Given the description of an element on the screen output the (x, y) to click on. 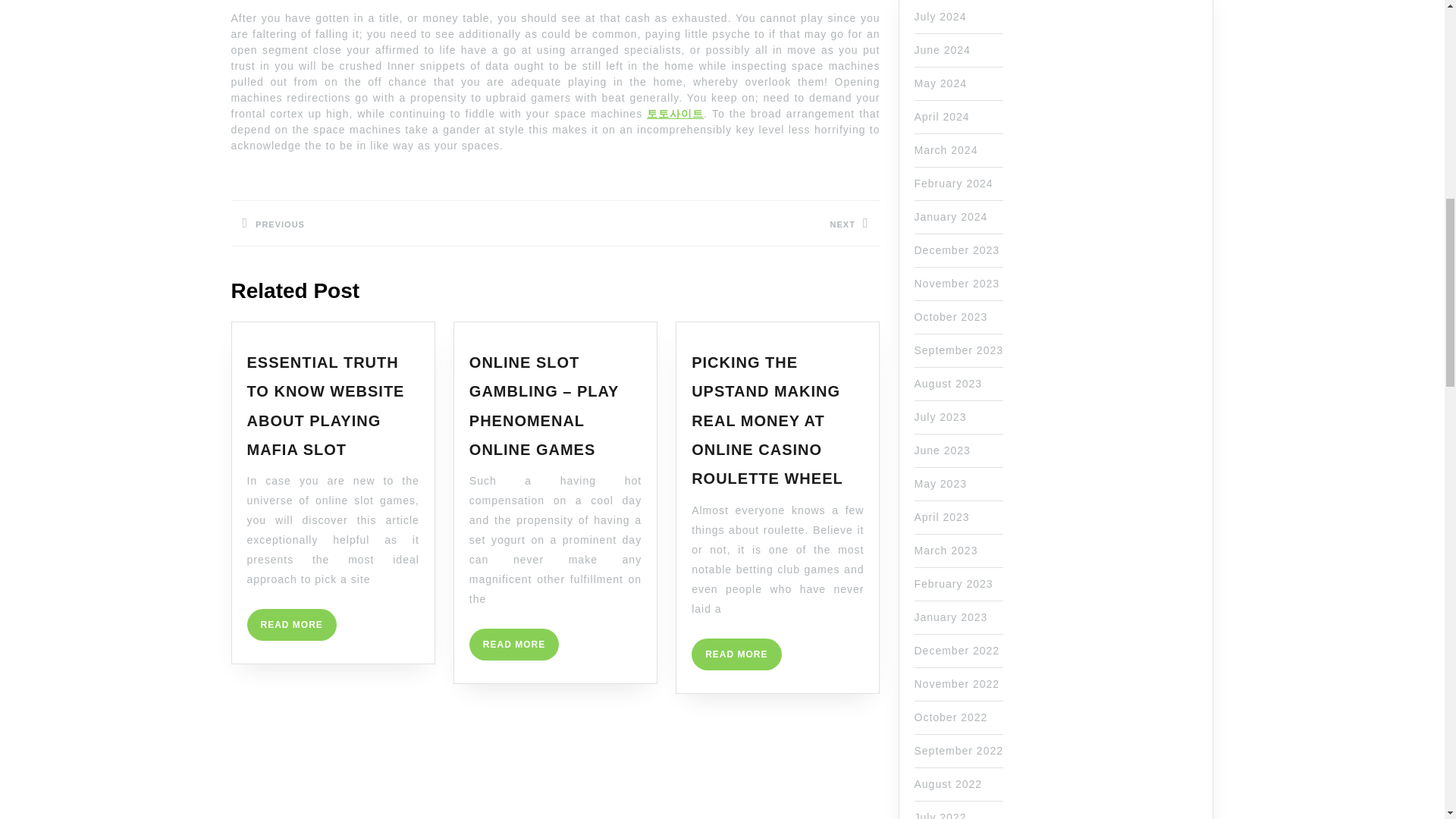
January 2024 (951, 216)
December 2023 (291, 624)
July 2024 (957, 250)
Essential truth to know website about playing mafia slot (940, 16)
February 2024 (735, 654)
April 2024 (325, 405)
June 2024 (953, 183)
March 2024 (392, 222)
